Given the description of an element on the screen output the (x, y) to click on. 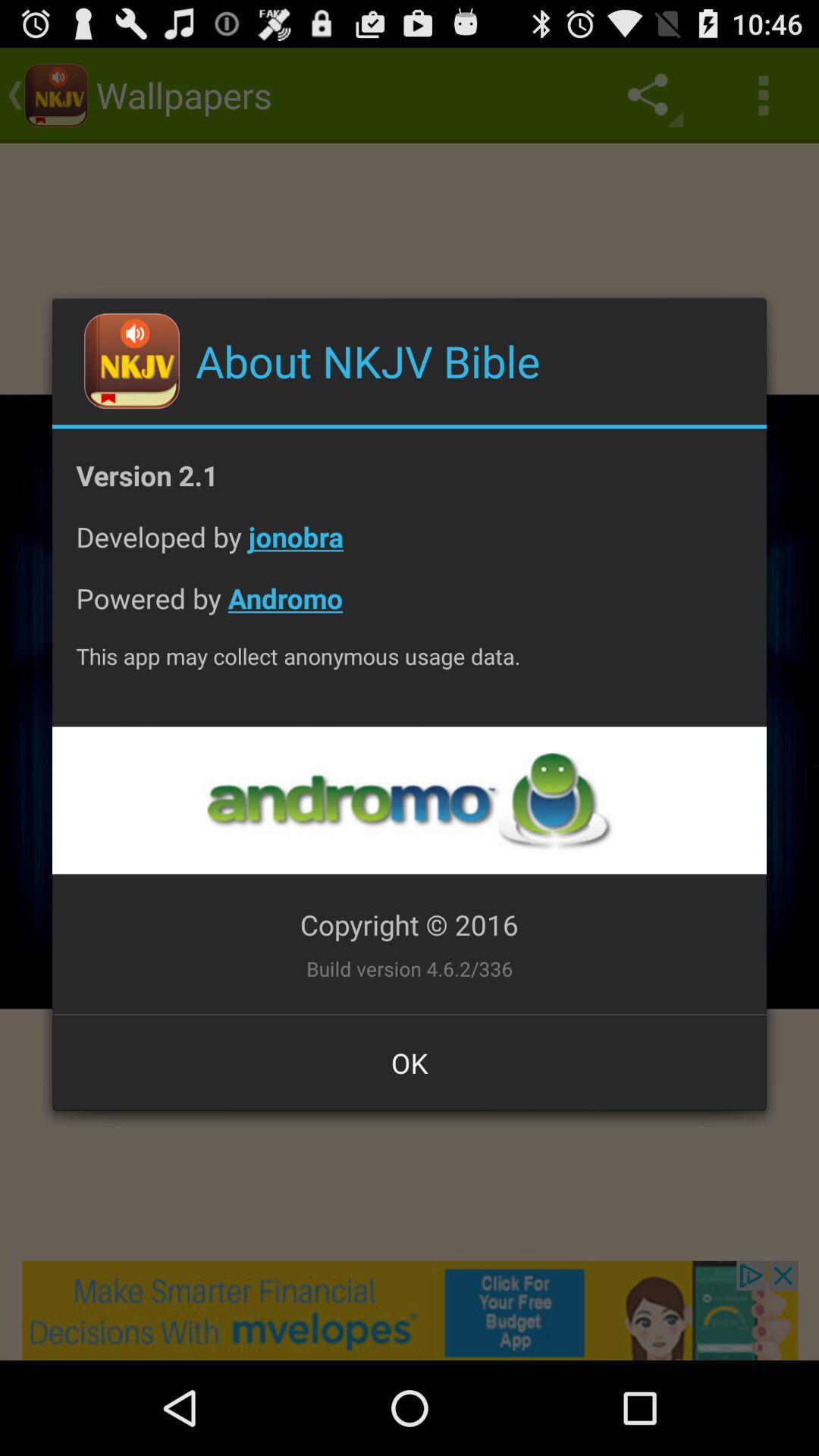
select the icon above the this app may item (409, 609)
